Given the description of an element on the screen output the (x, y) to click on. 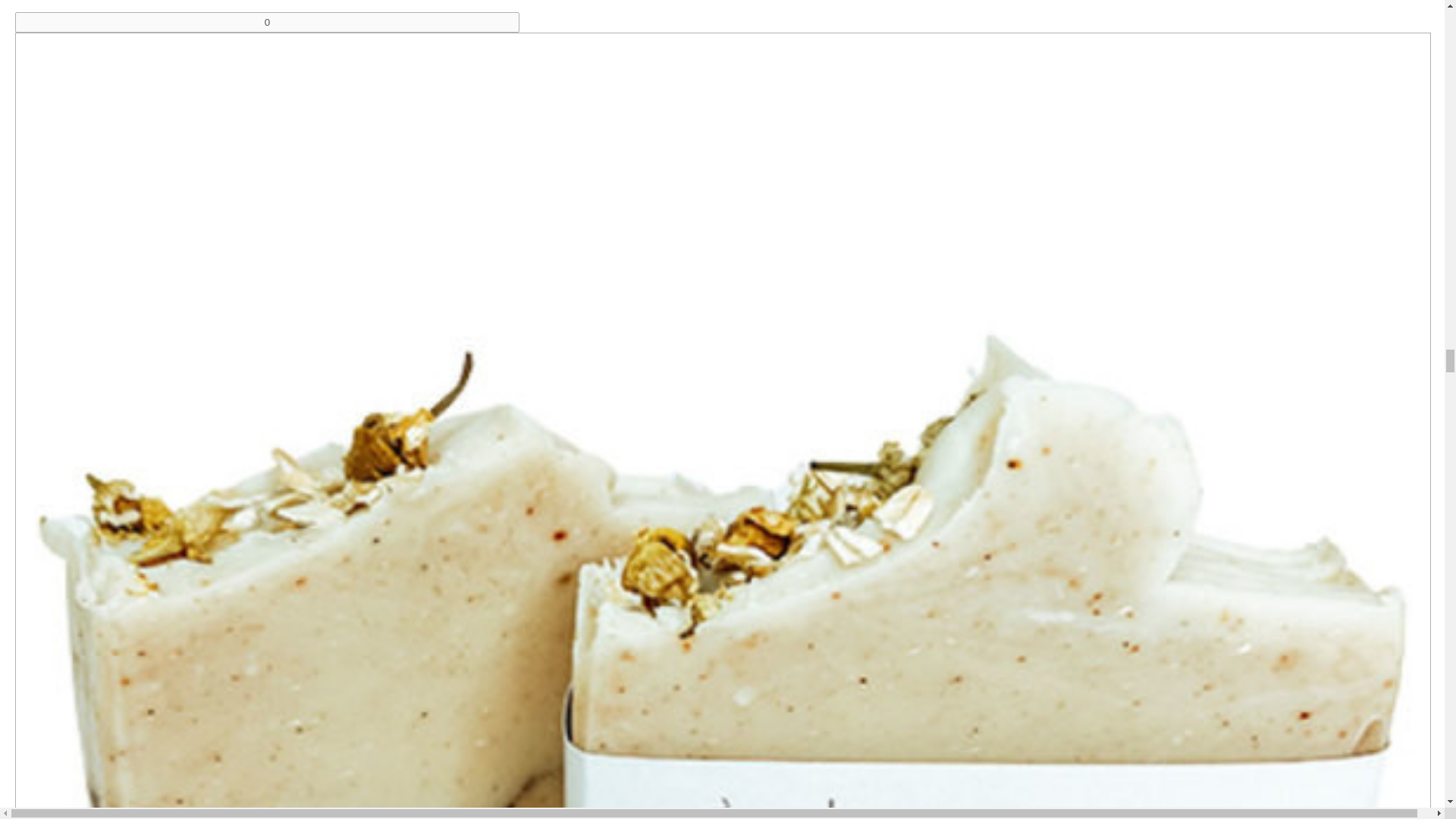
0 (266, 22)
